Given the description of an element on the screen output the (x, y) to click on. 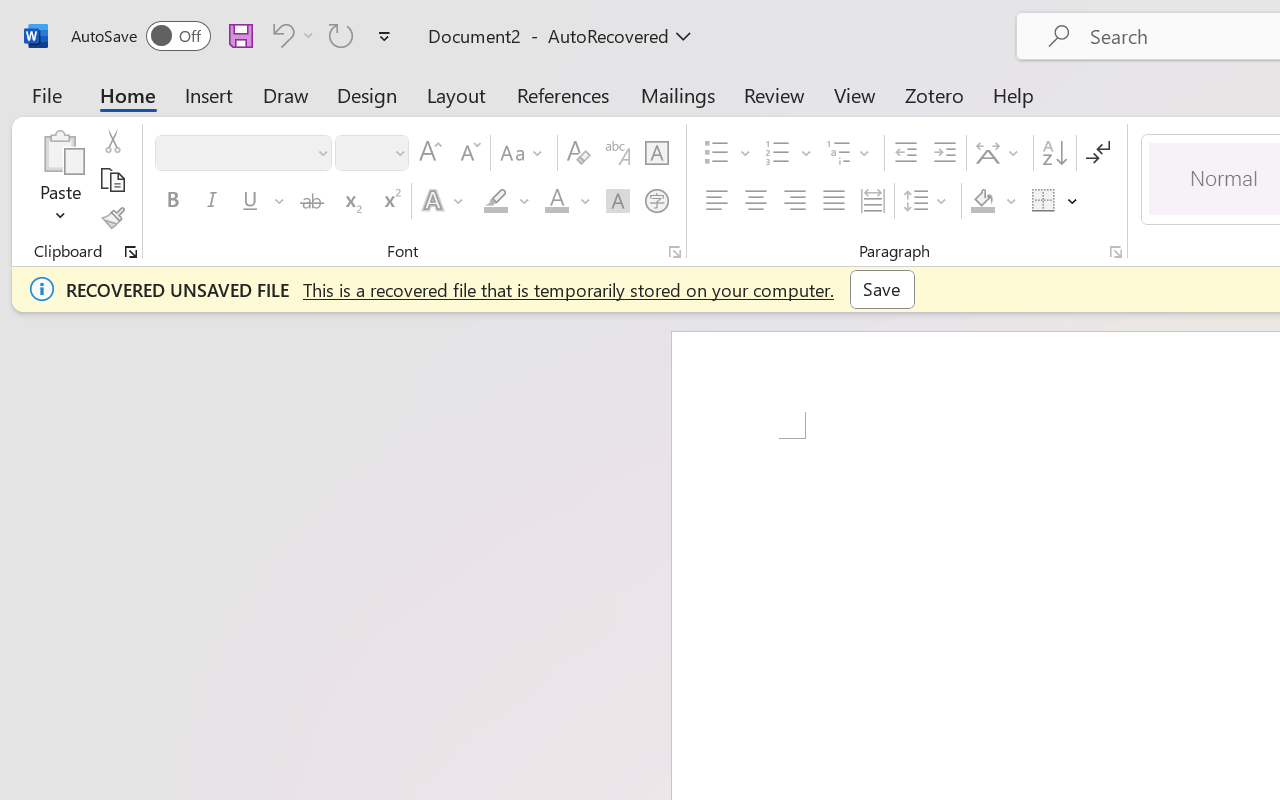
Center (756, 201)
Show/Hide Editing Marks (1098, 153)
Character Shading (618, 201)
Superscript (390, 201)
Multilevel List (850, 153)
Bold (172, 201)
Office Clipboard... (131, 252)
